Given the description of an element on the screen output the (x, y) to click on. 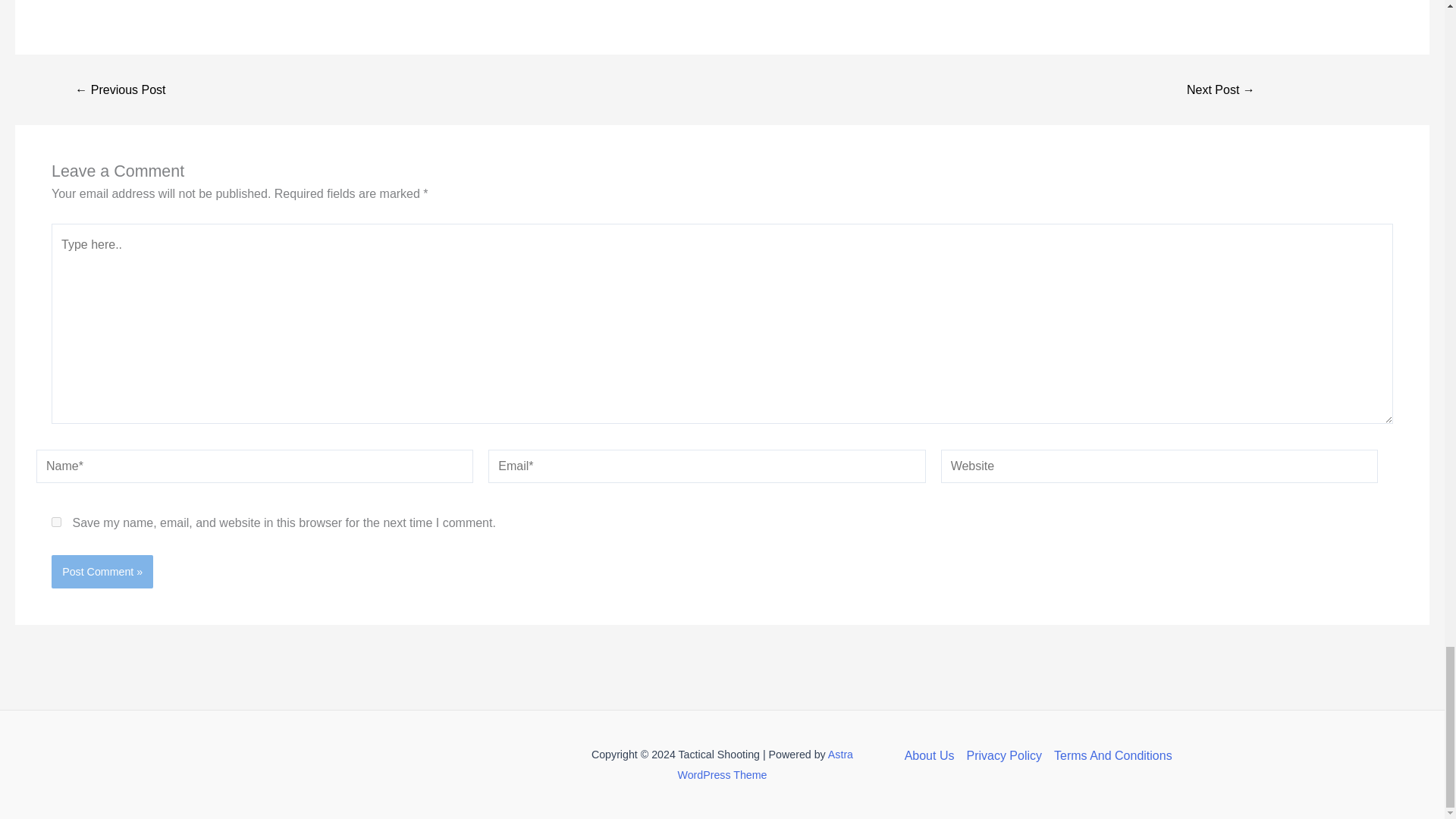
yes (55, 521)
How To Do A Glock 25 Cent Trigger Job (1220, 90)
308 Effective Range For Civilian Use (119, 90)
